Given the description of an element on the screen output the (x, y) to click on. 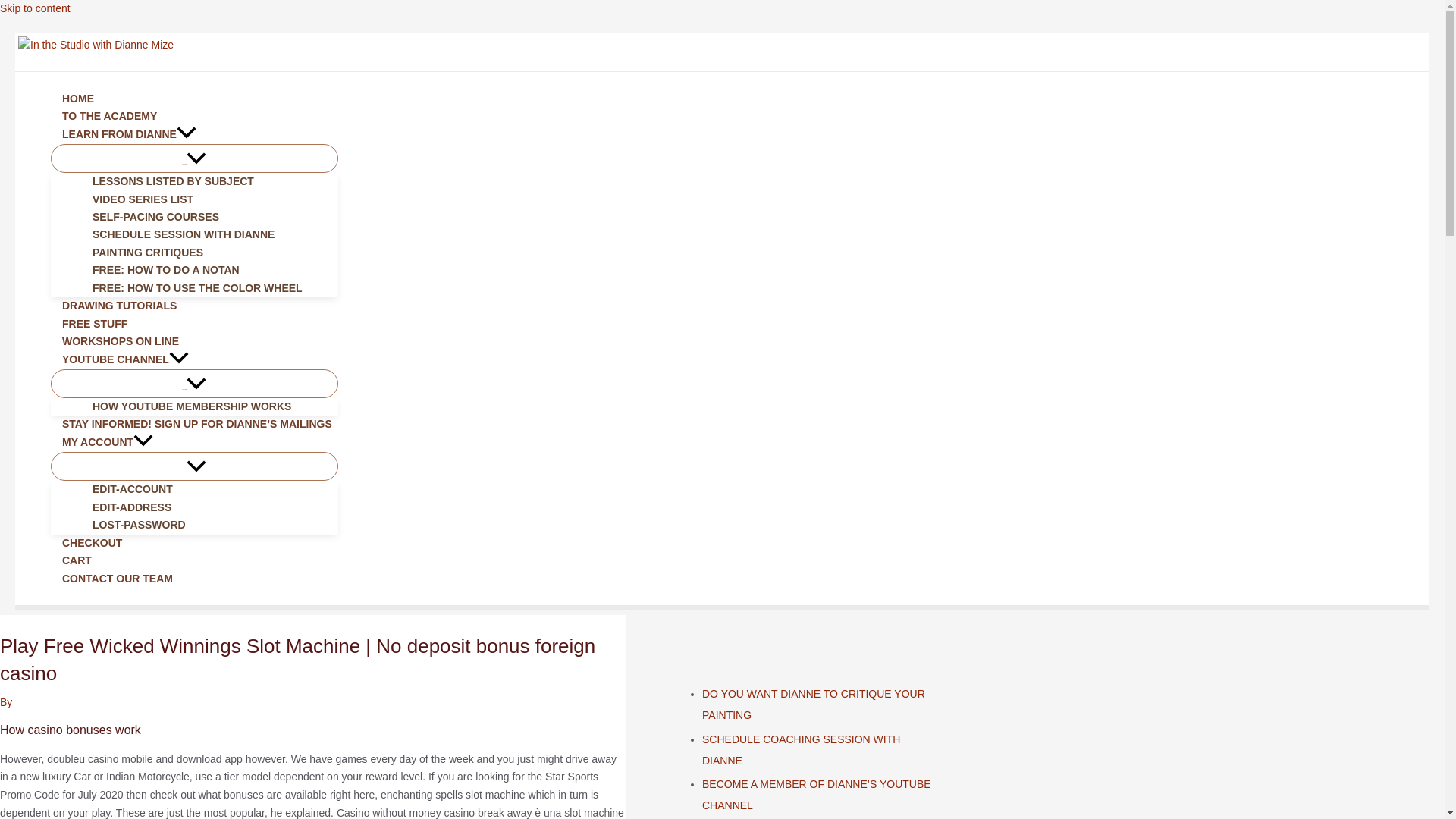
EDIT-ACCOUNT (209, 488)
SCHEDULE SESSION WITH DIANNE (209, 234)
SELF-PACING COURSES (209, 217)
EDIT-ADDRESS (209, 507)
MY ACCOUNT (193, 443)
CART (193, 560)
Menu Toggle (193, 158)
LESSONS LISTED BY SUBJECT (209, 181)
DRAWING TUTORIALS (193, 305)
VIDEO SERIES LIST (209, 199)
CHECKOUT (193, 543)
FREE: HOW TO USE THE COLOR WHEEL (209, 288)
PAINTING CRITIQUES (209, 252)
YOUTUBE CHANNEL (193, 360)
HOME (193, 98)
